Given the description of an element on the screen output the (x, y) to click on. 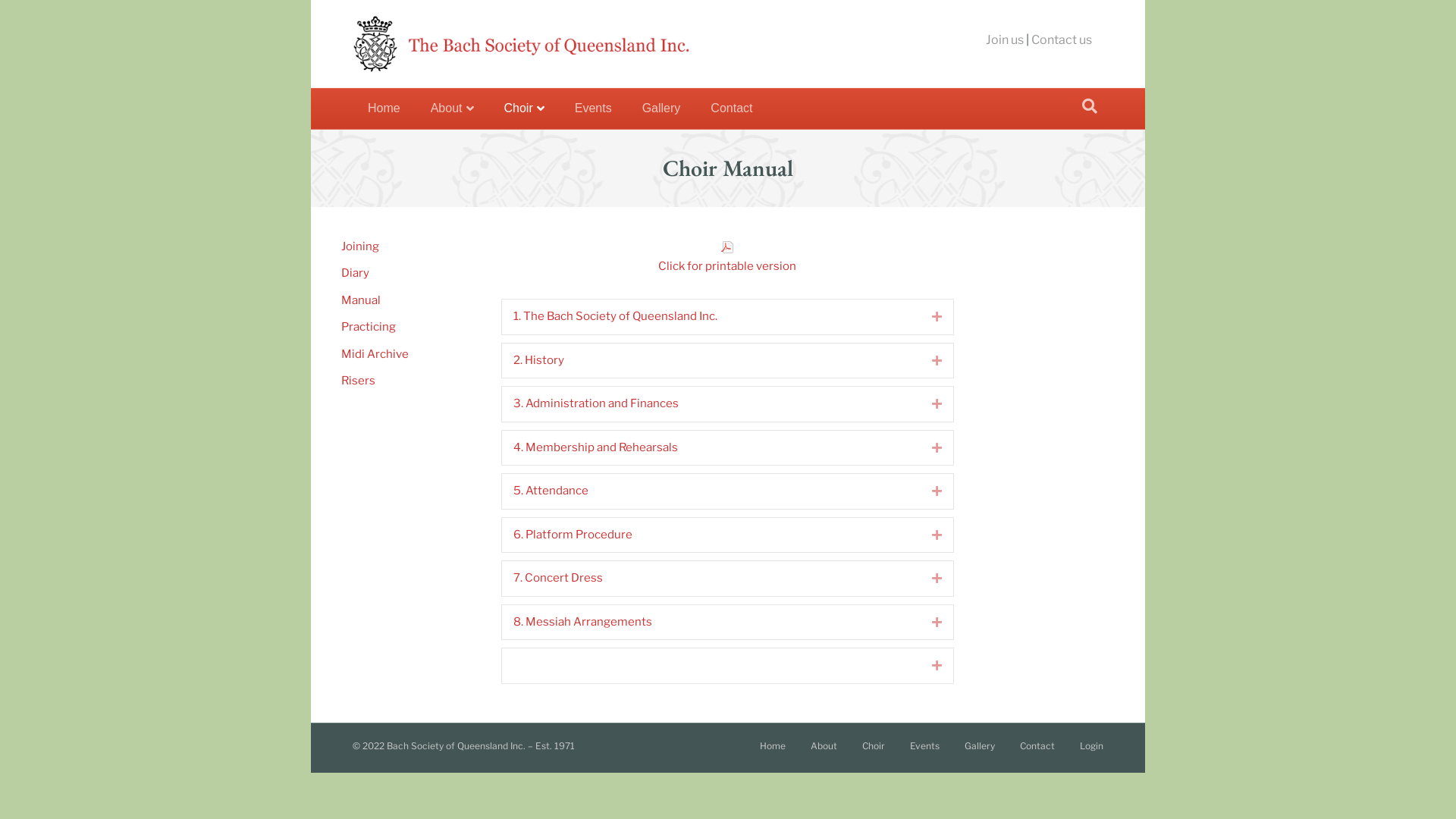
2. History Element type: text (710, 360)
Choir Element type: text (523, 108)
5. Attendance Element type: text (710, 491)
Expand Element type: text (925, 448)
6. Platform Procedure Element type: text (710, 535)
Login Element type: text (1091, 751)
Join us Element type: text (1004, 39)
Manual Element type: text (360, 300)
Events Element type: text (924, 751)
Expand Element type: text (925, 404)
7. Concert Dress Element type: text (710, 578)
About Element type: text (452, 108)
About Element type: text (823, 751)
8. Messiah Arrangements Element type: text (710, 622)
4. Membership and Rehearsals Element type: text (710, 448)
Expand Element type: text (925, 491)
Expand Element type: text (925, 622)
1. The Bach Society of Queensland Inc. Element type: text (710, 316)
Expand Element type: text (925, 578)
Expand Element type: text (925, 316)
Home Element type: text (772, 751)
Expand Element type: text (925, 360)
Gallery Element type: text (979, 751)
Contact us Element type: text (1061, 39)
Midi Archive Element type: text (374, 353)
3. Administration and Finances Element type: text (710, 404)
Diary Element type: text (355, 272)
Risers Element type: text (358, 380)
Contact Element type: text (1037, 751)
Events Element type: text (593, 108)
Expand Element type: text (925, 535)
Home Element type: text (383, 108)
Contact Element type: text (731, 108)
Choir Element type: text (873, 751)
Gallery Element type: text (661, 108)
Expand Element type: text (925, 665)
Joining Element type: text (360, 246)
Practicing Element type: text (368, 326)
Click for printable version Element type: text (727, 266)
